Given the description of an element on the screen output the (x, y) to click on. 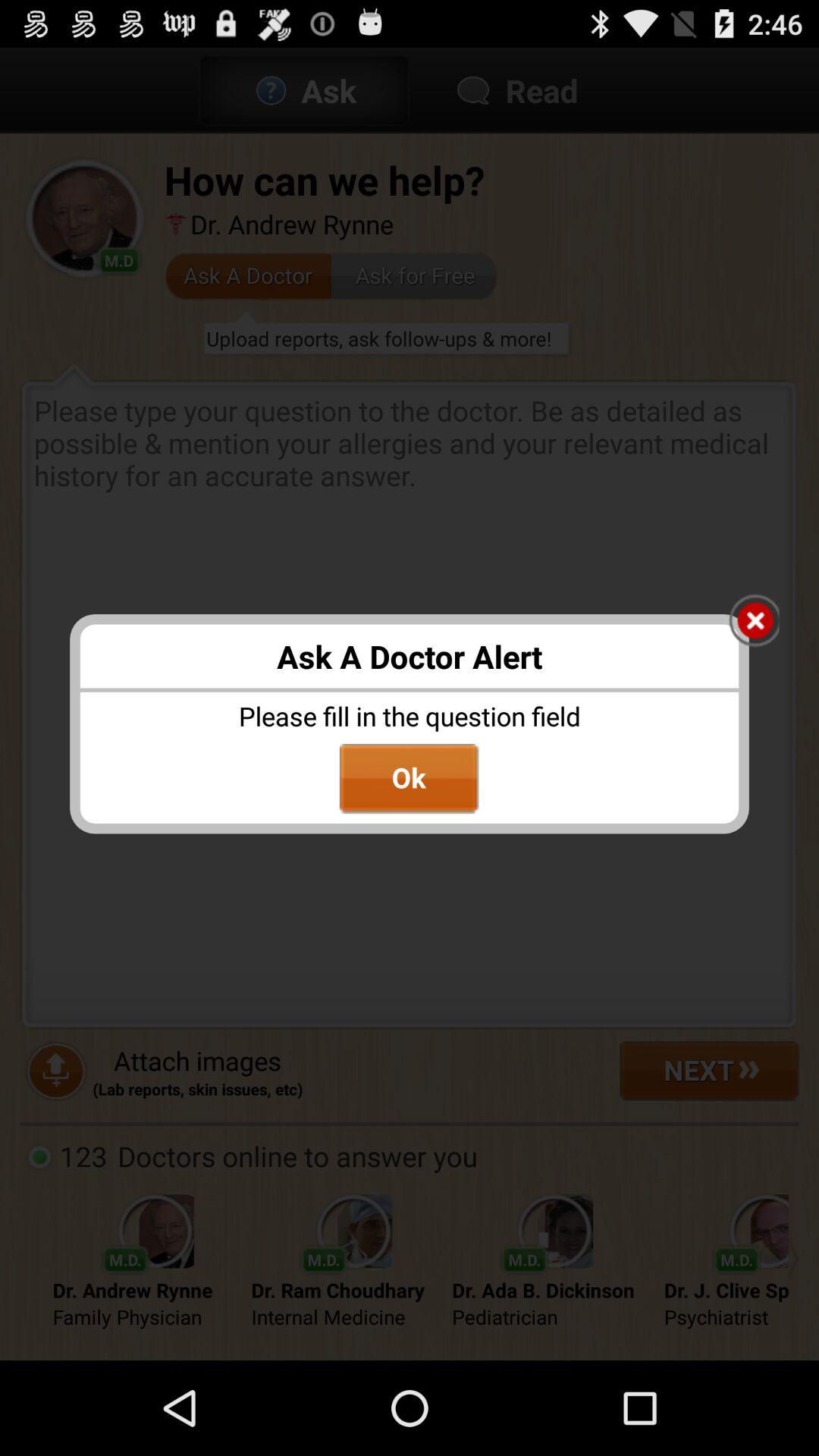
turn off the item on the right (753, 622)
